Given the description of an element on the screen output the (x, y) to click on. 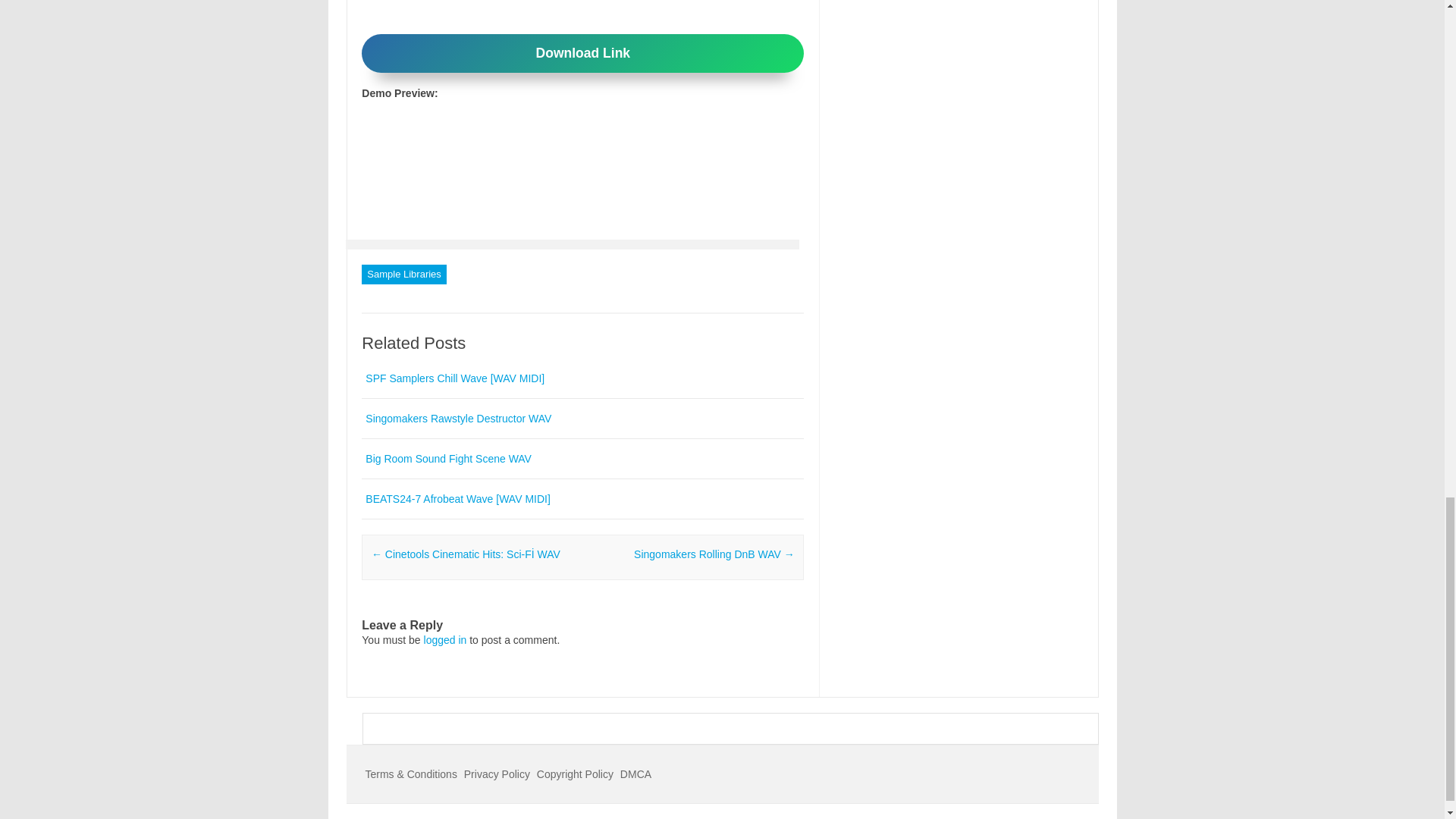
Singomakers Rawstyle Destructor WAV (458, 418)
Big Room Sound Fight Scene WAV (448, 458)
Privacy Policy (496, 774)
Big Room Sound Fight Scene WAV (448, 458)
logged in (445, 639)
DMCA (635, 774)
Copyright Policy (574, 774)
Singomakers Rawstyle Destructor WAV (458, 418)
Sample Libraries (403, 274)
